Given the description of an element on the screen output the (x, y) to click on. 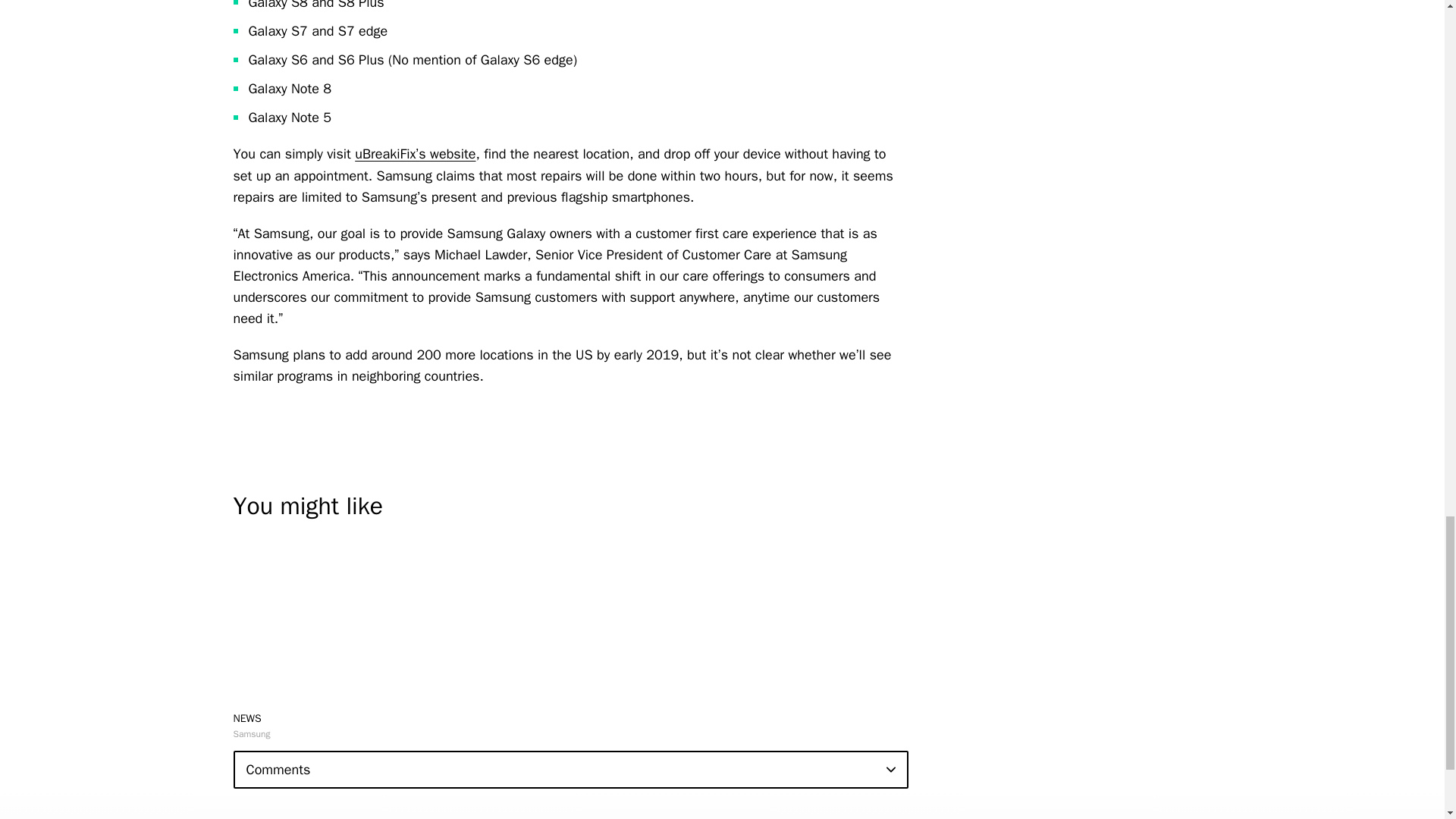
NEWS (247, 717)
Samsung (251, 733)
Comments (570, 769)
